Given the description of an element on the screen output the (x, y) to click on. 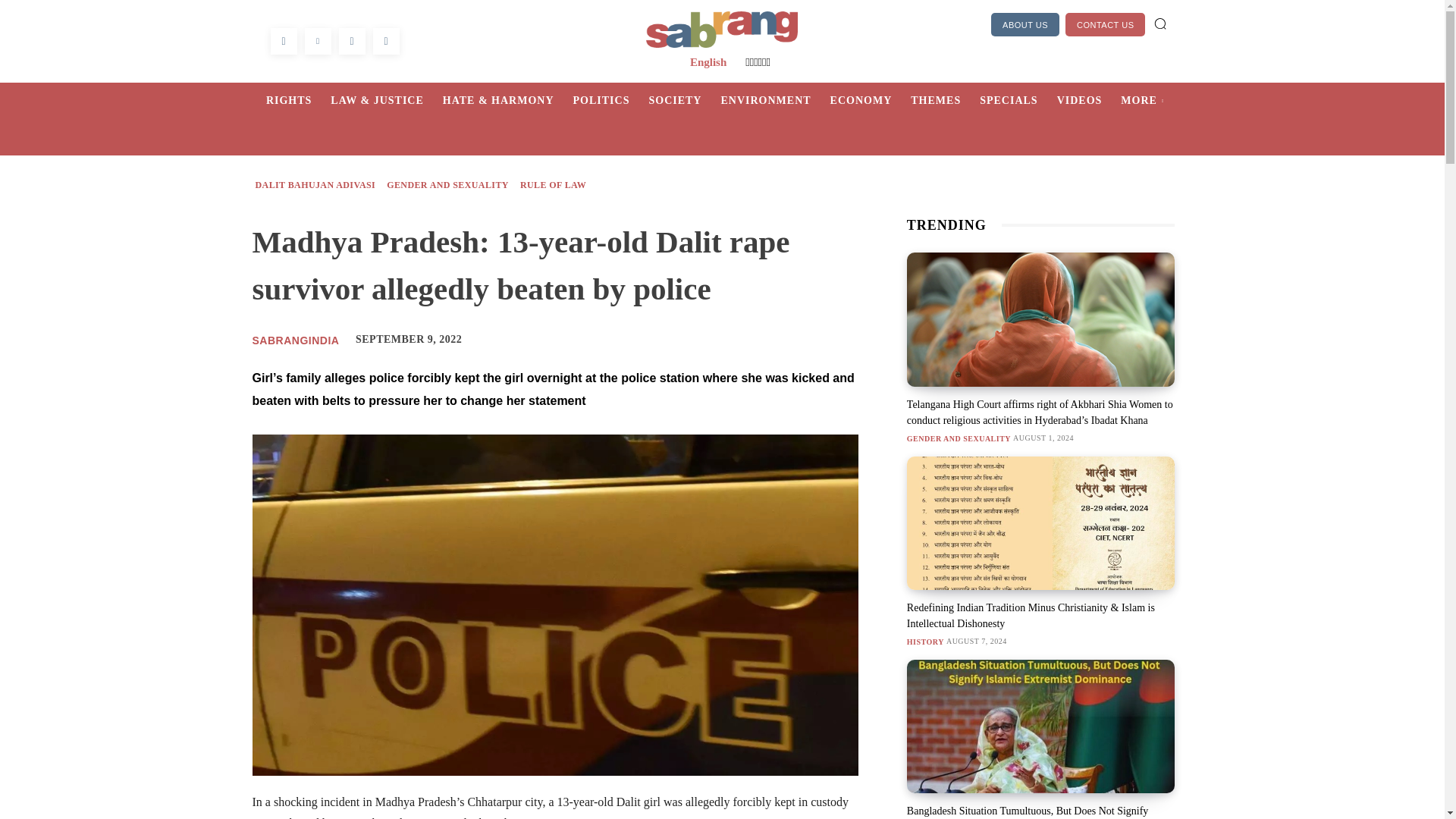
SOCIETY (683, 100)
ENVIRONMENT (774, 100)
Twitter (317, 40)
Youtube (385, 40)
THEMES (945, 100)
RIGHTS (298, 100)
Facebook (283, 40)
ECONOMY (870, 100)
POLITICS (611, 100)
CONTACT US (1105, 24)
